Given the description of an element on the screen output the (x, y) to click on. 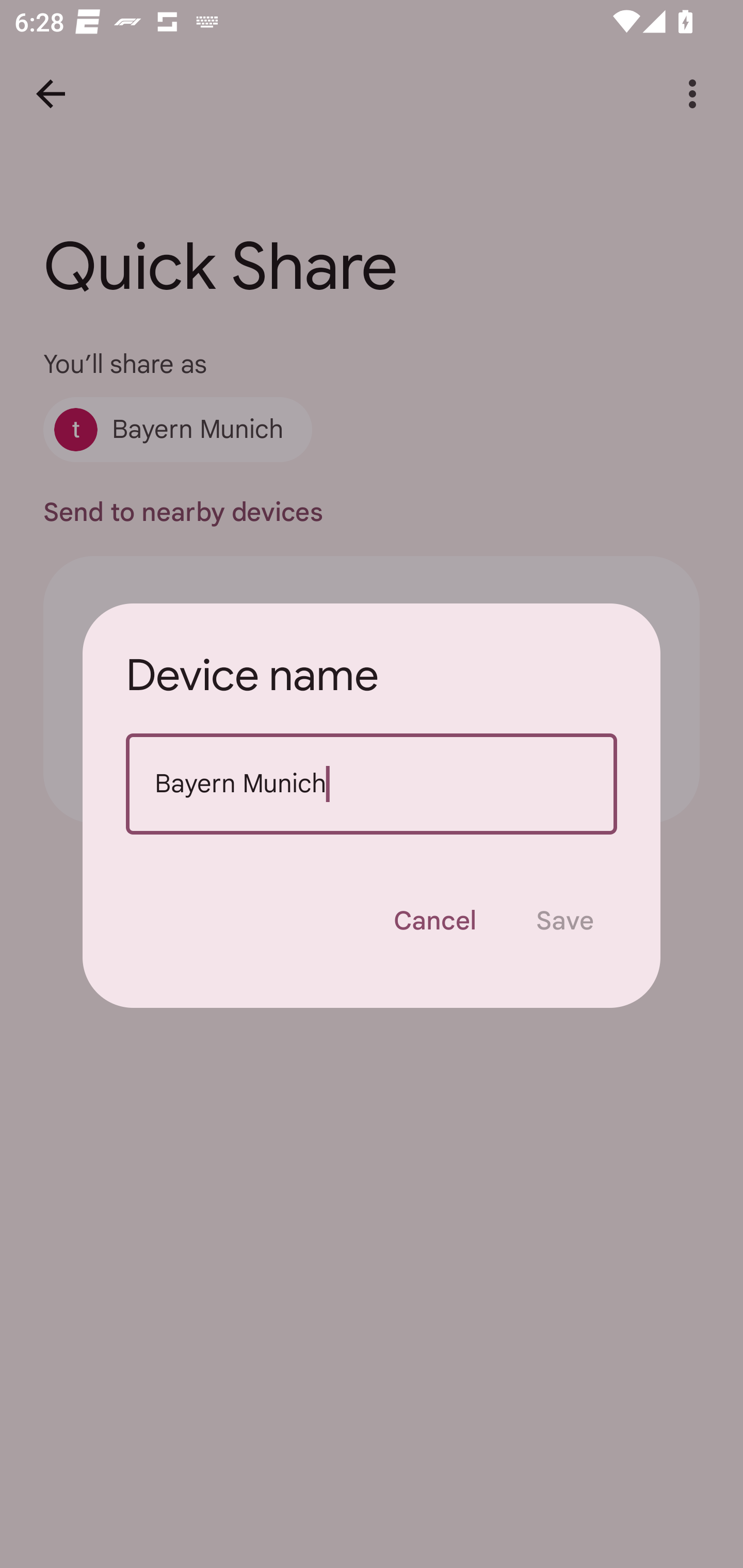
Bayern Munich Device name (371, 783)
Cancel (434, 921)
Save (564, 921)
